Given the description of an element on the screen output the (x, y) to click on. 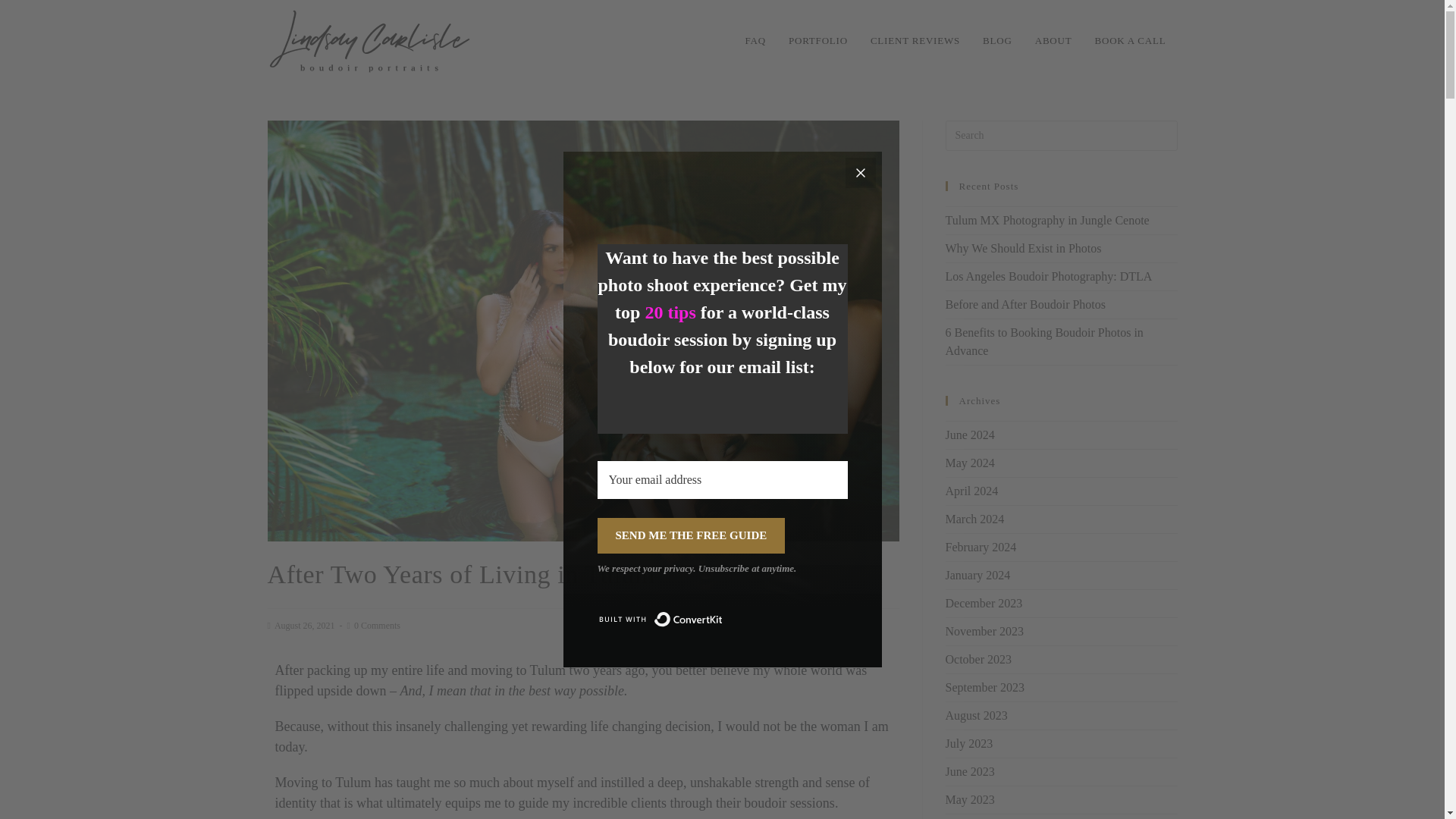
Tulum MX Photography in Jungle Cenote (1046, 219)
ABOUT (1053, 40)
0 Comments (376, 624)
BLOG (997, 40)
Why We Should Exist in Photos (1022, 247)
PORTFOLIO (818, 40)
BOOK A CALL (1129, 40)
FAQ (755, 40)
CLIENT REVIEWS (915, 40)
